Given the description of an element on the screen output the (x, y) to click on. 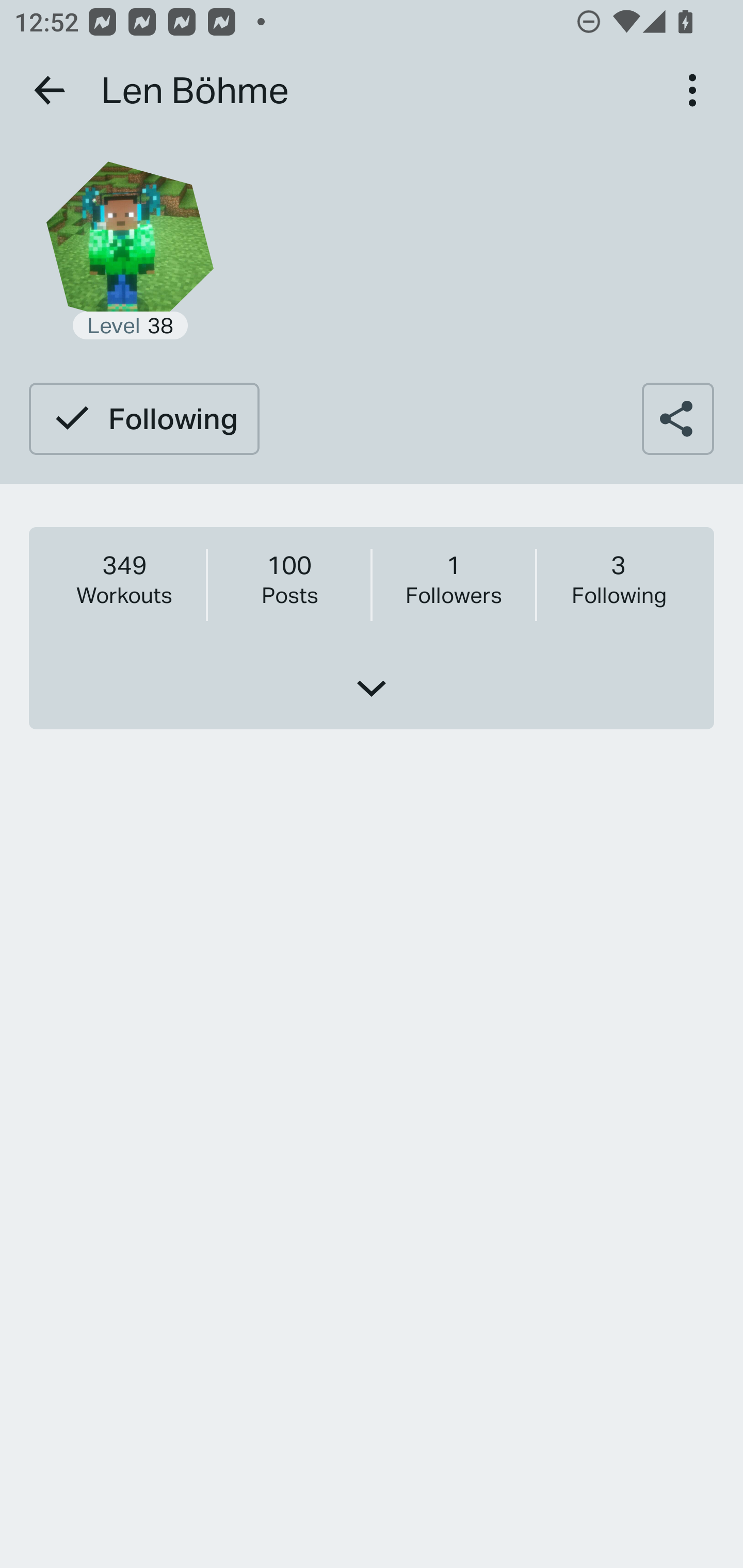
Go back (50, 90)
Options (692, 90)
Following (143, 418)
349 Workouts (124, 579)
100 Posts (289, 579)
1 Followers (453, 579)
3 Following (618, 579)
